Given the description of an element on the screen output the (x, y) to click on. 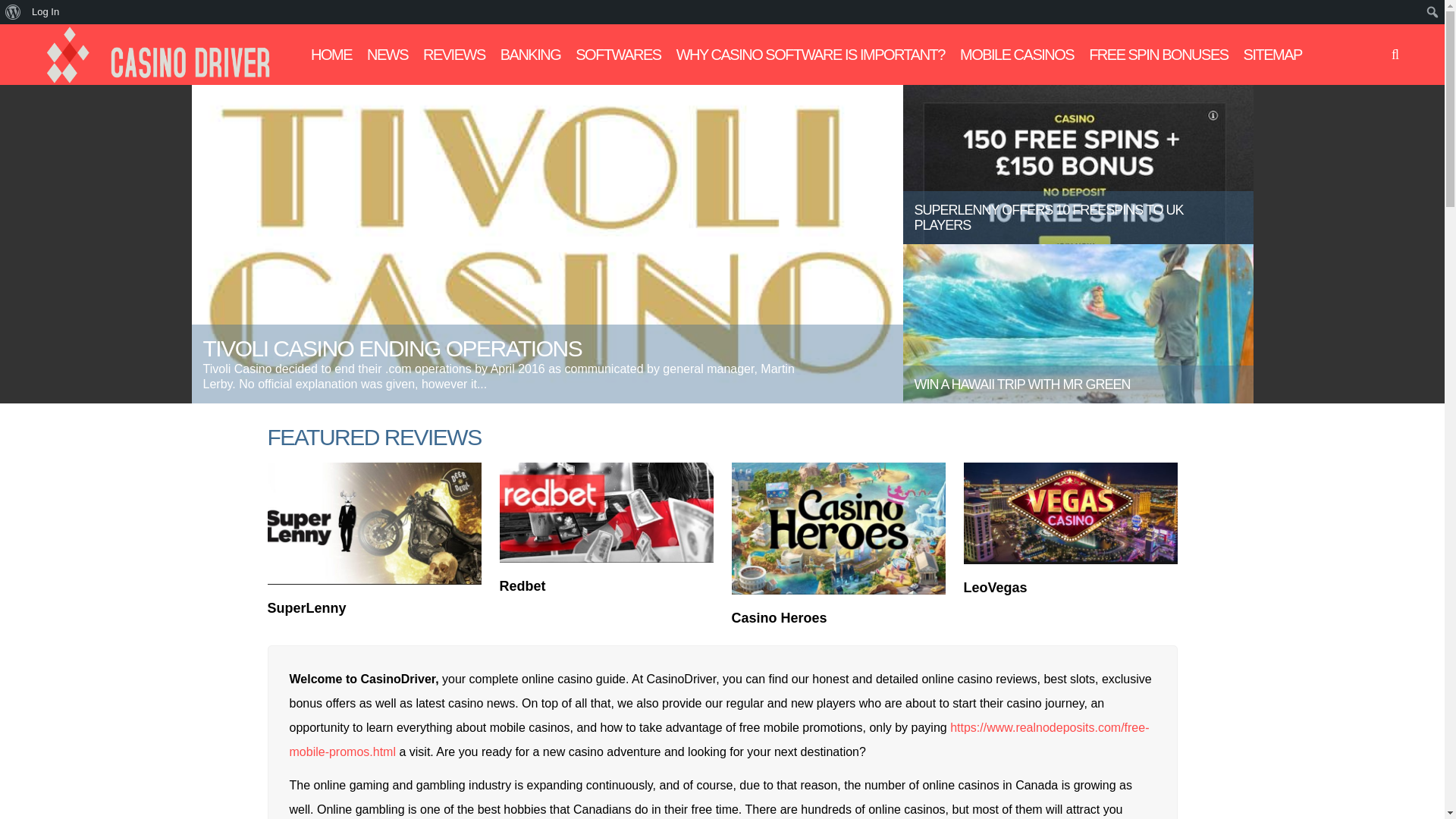
SuperLenny (306, 607)
Redbet (521, 585)
LeoVegas (994, 587)
WHY CASINO SOFTWARE IS IMPORTANT? (810, 54)
WIN A HAWAII TRIP WITH MR GREEN (1077, 323)
Redbet (606, 512)
NEWS (386, 54)
Redbet (521, 585)
HOME (331, 54)
